Given the description of an element on the screen output the (x, y) to click on. 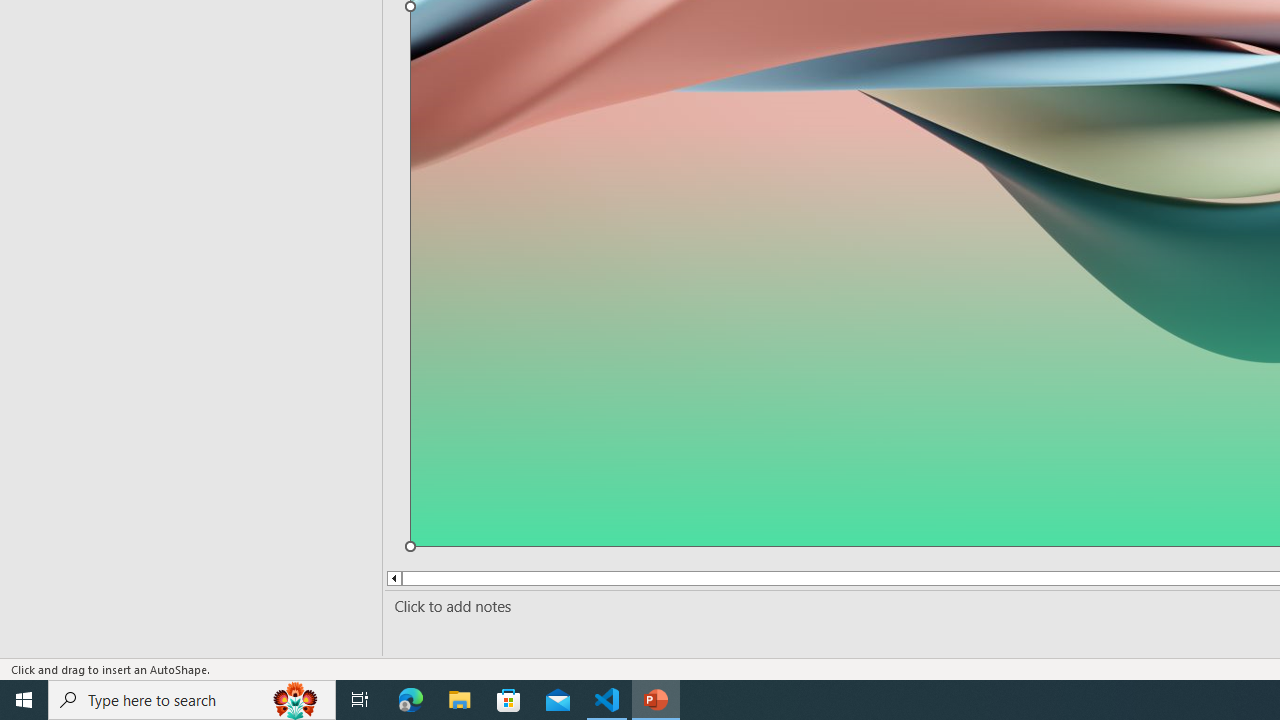
Visual Studio Code - 1 running window (607, 699)
Microsoft Edge (411, 699)
Type here to search (191, 699)
Microsoft Store (509, 699)
Line up (393, 578)
File Explorer (460, 699)
Task View (359, 699)
PowerPoint - 1 running window (656, 699)
Page up (425, 578)
Start (24, 699)
Search highlights icon opens search home window (295, 699)
